Given the description of an element on the screen output the (x, y) to click on. 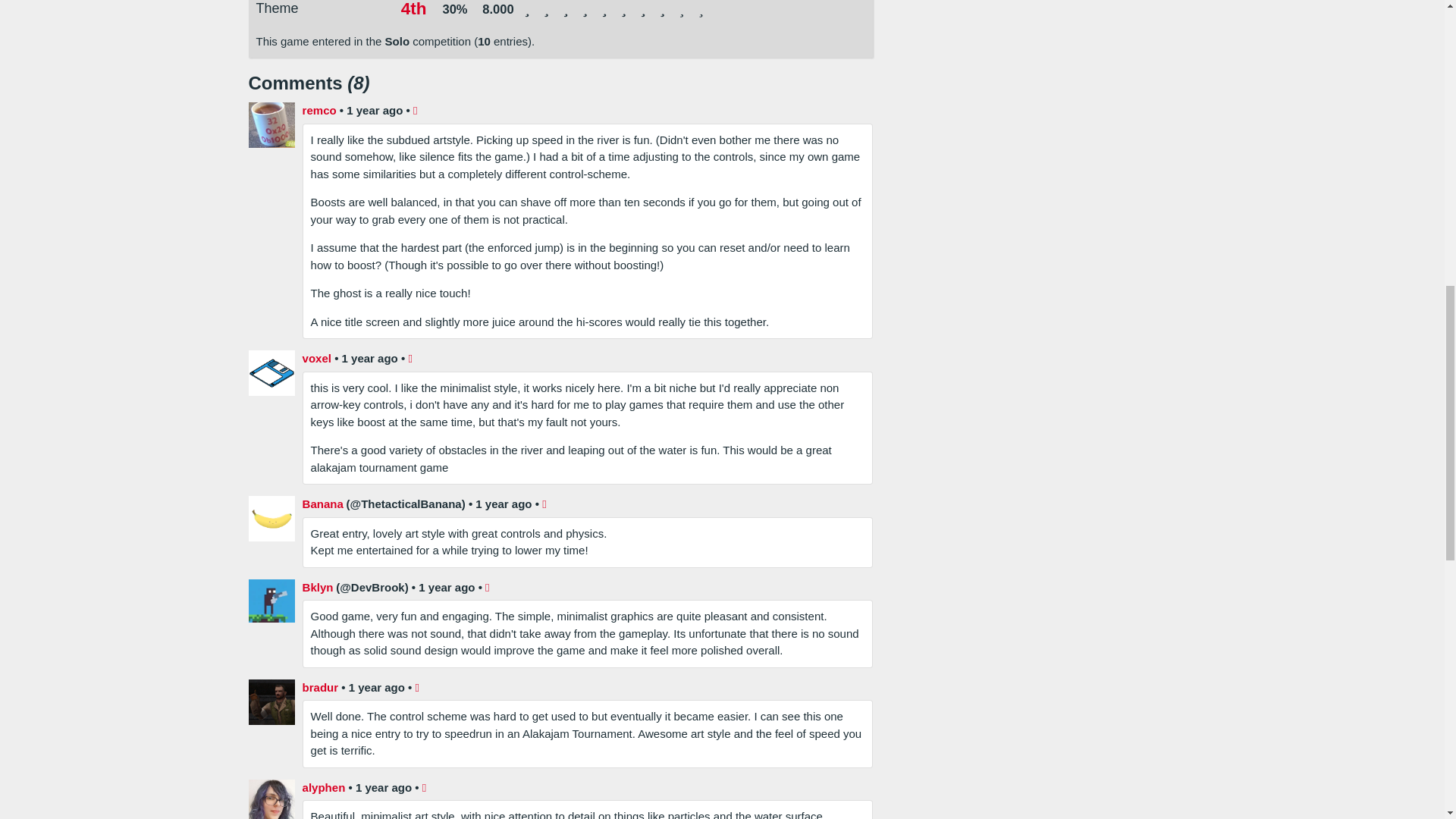
voxel (316, 358)
remco (319, 110)
Banana (322, 504)
4th (413, 9)
bradur (320, 687)
Bklyn (317, 588)
